Given the description of an element on the screen output the (x, y) to click on. 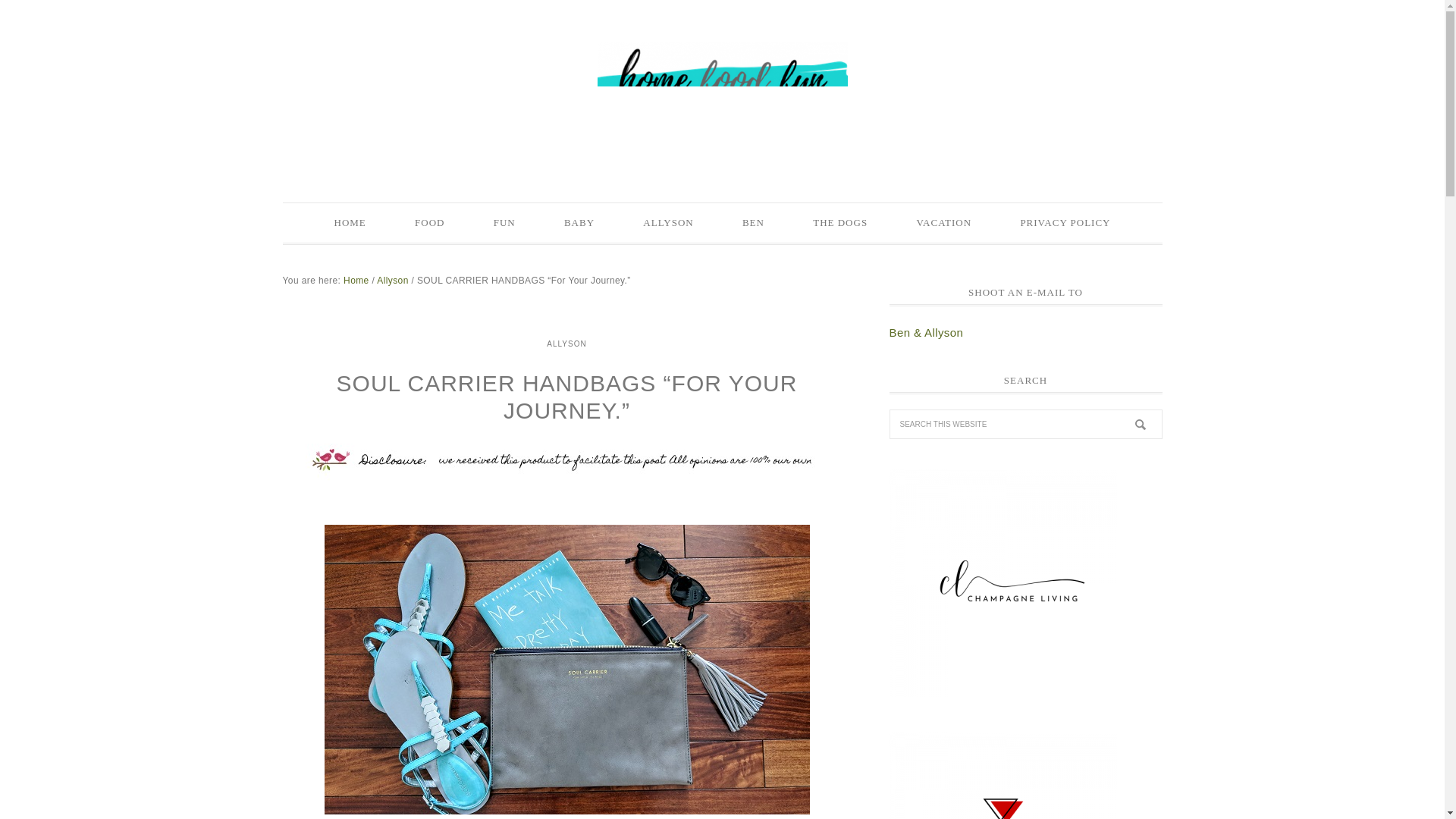
HOME (349, 222)
Home (356, 279)
PRIVACY POLICY (1064, 222)
ALLYSON (566, 342)
THE DOGS (839, 222)
FOOD (429, 222)
HOME FOOD FUN (721, 92)
BEN (753, 222)
